Given the description of an element on the screen output the (x, y) to click on. 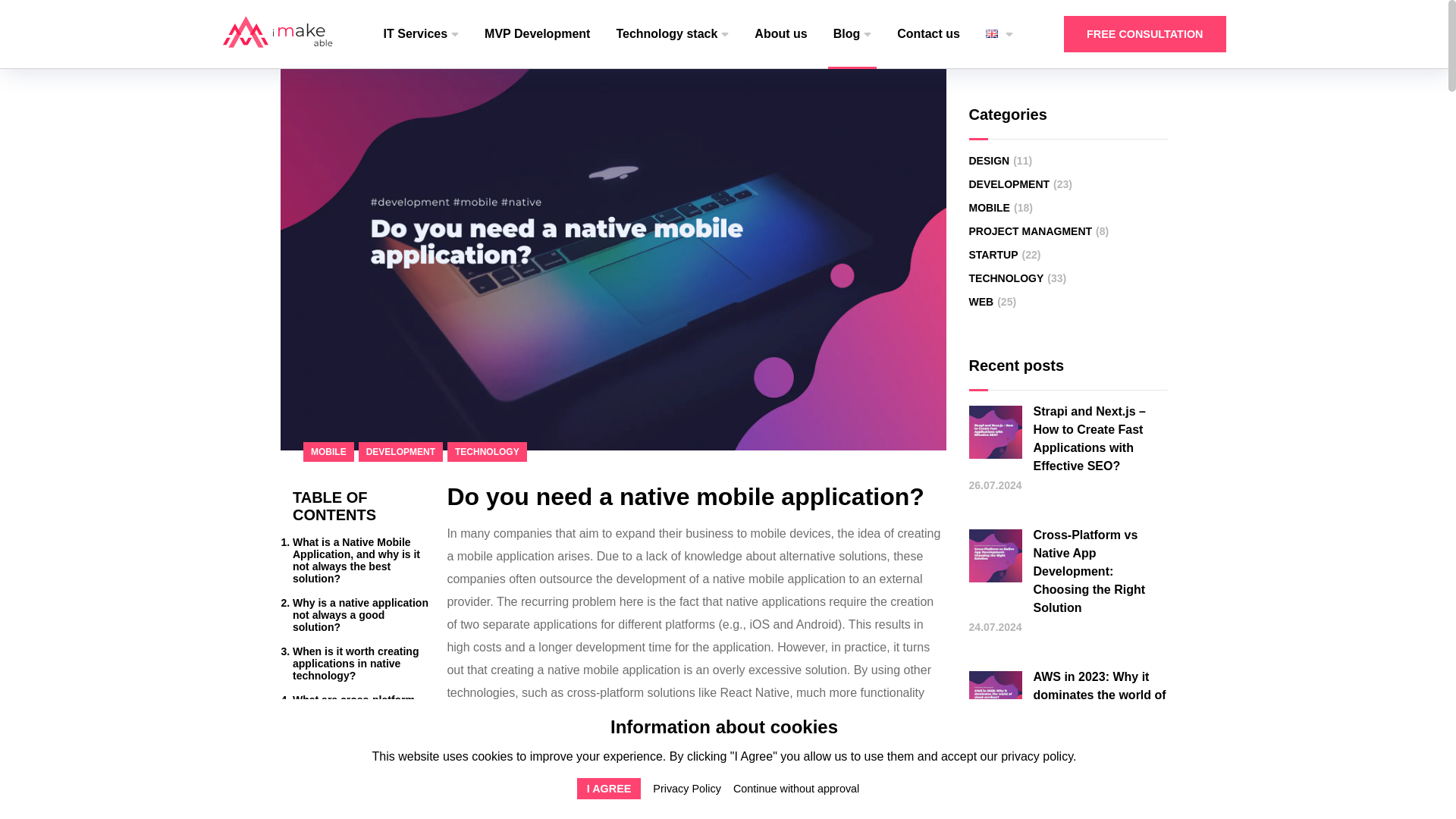
IT Services (421, 33)
